Given the description of an element on the screen output the (x, y) to click on. 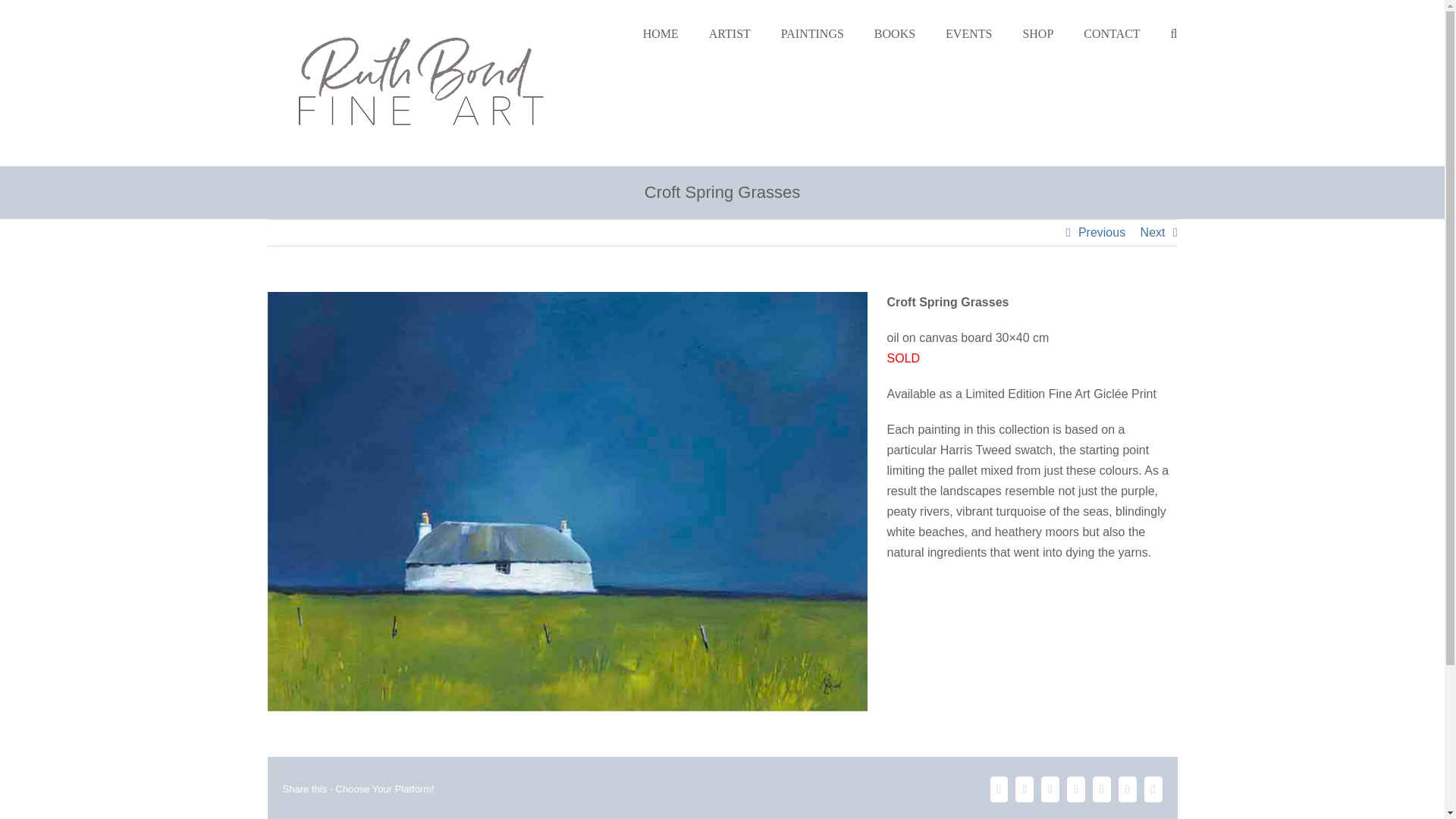
PAINTINGS (812, 32)
